Given the description of an element on the screen output the (x, y) to click on. 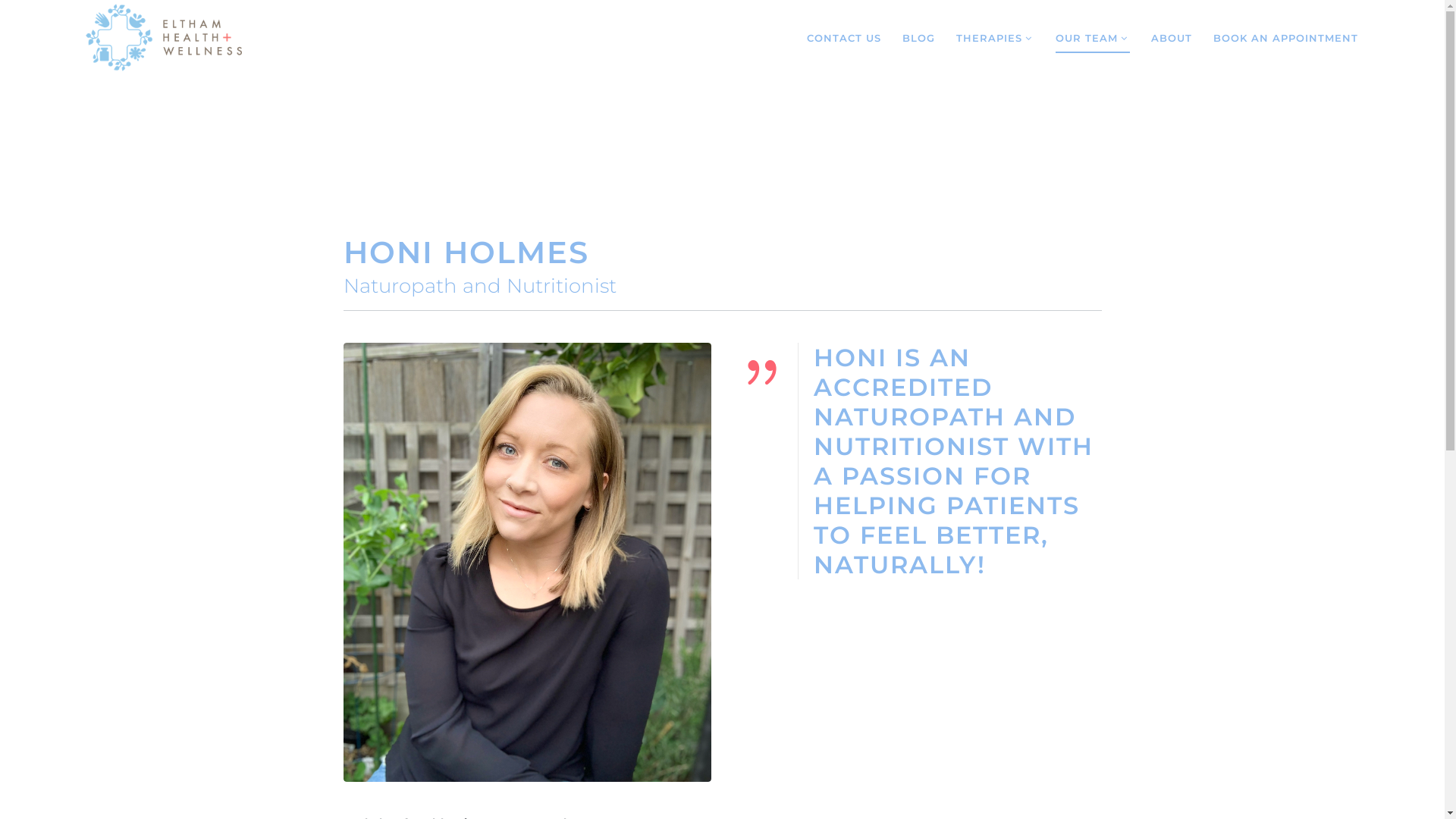
CONTACT US Element type: text (843, 37)
ABOUT Element type: text (1171, 37)
Honi Holmes Element type: hover (526, 561)
BOOK AN APPOINTMENT Element type: text (1285, 37)
BLOG Element type: text (918, 37)
OUR TEAM Element type: text (1092, 37)
THERAPIES Element type: text (995, 37)
